Given the description of an element on the screen output the (x, y) to click on. 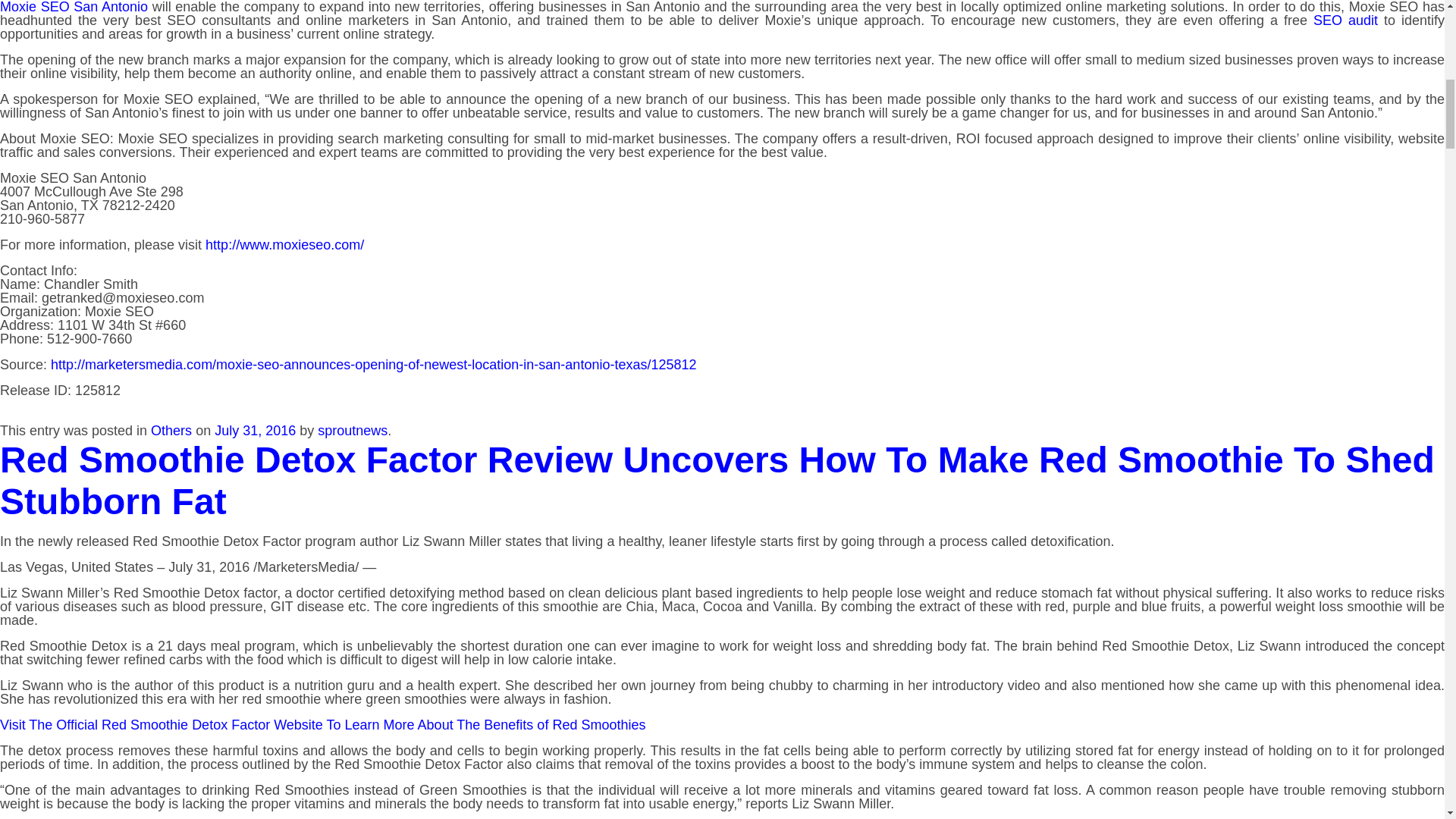
July 31, 2016 (254, 430)
Moxie SEO San Antonio (74, 7)
SEO audit (1345, 20)
8:00 am (254, 430)
sproutnews (352, 430)
View all posts by sproutnews (352, 430)
Others (171, 430)
